Given the description of an element on the screen output the (x, y) to click on. 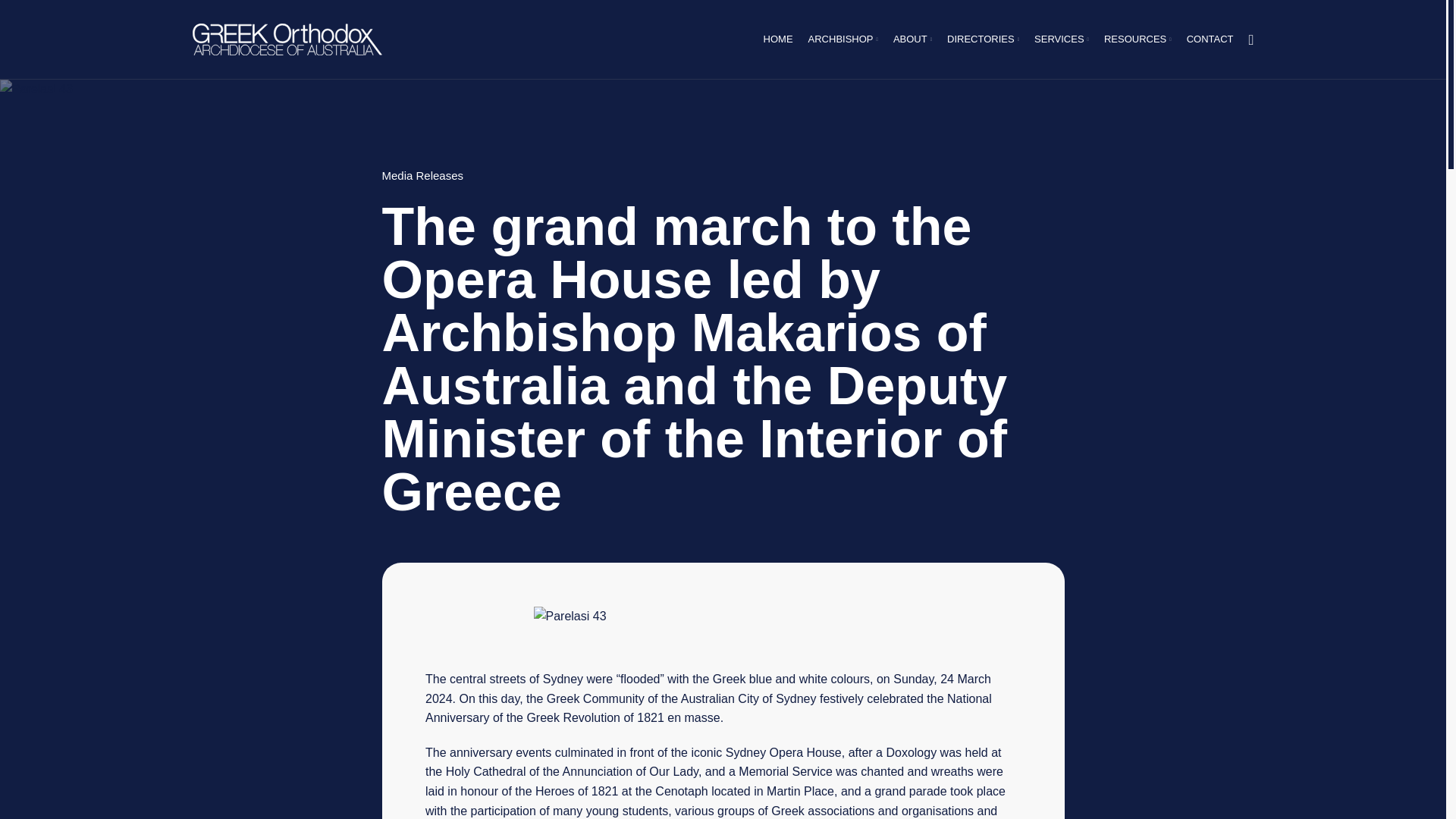
HOME (777, 39)
SERVICES (1061, 39)
Search (1251, 39)
RESOURCES (1137, 39)
ABOUT (912, 39)
DIRECTORIES (982, 39)
CONTACT (1210, 39)
ARCHBISHOP (842, 39)
